Given the description of an element on the screen output the (x, y) to click on. 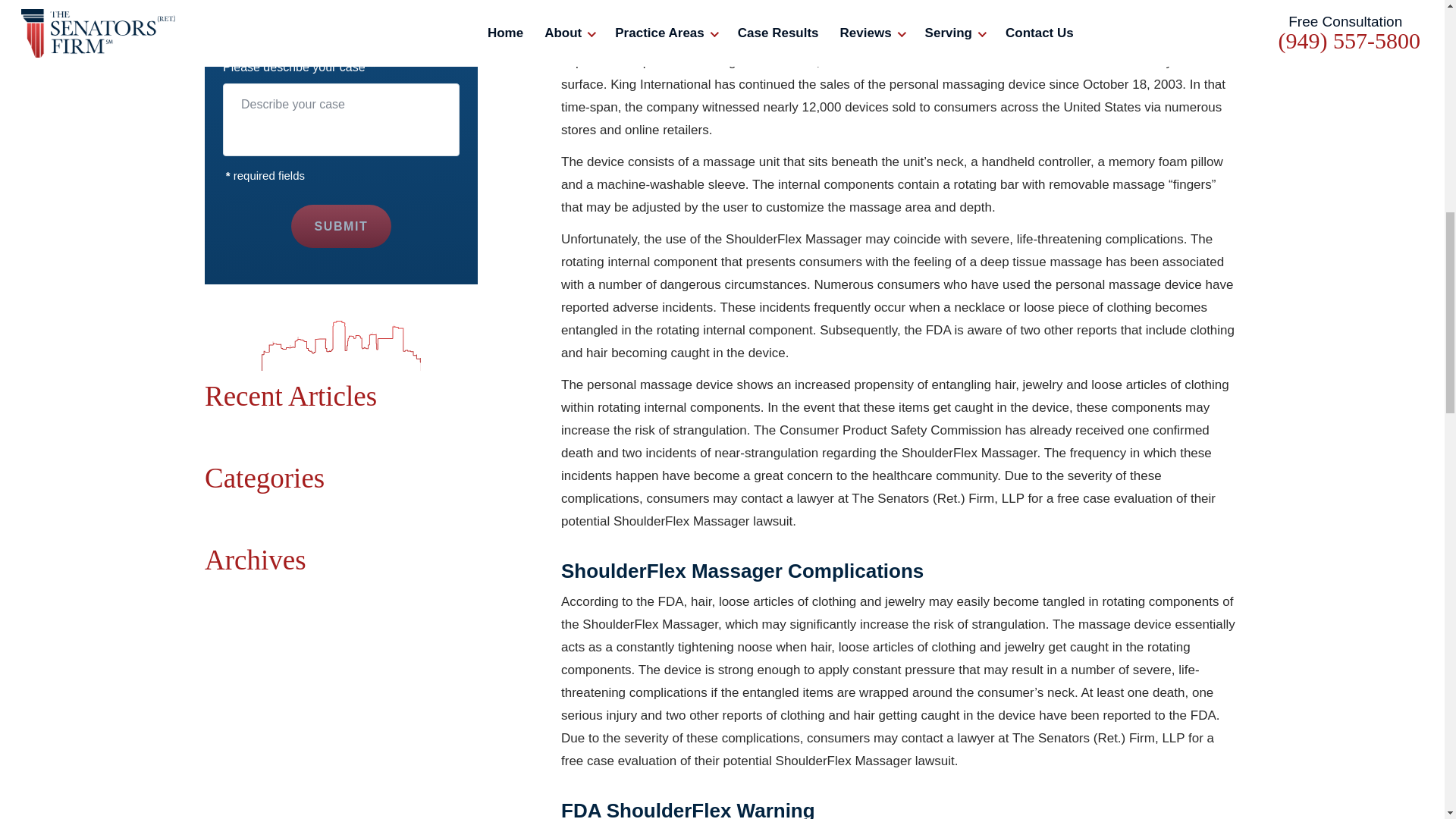
SUBMIT (341, 226)
